Given the description of an element on the screen output the (x, y) to click on. 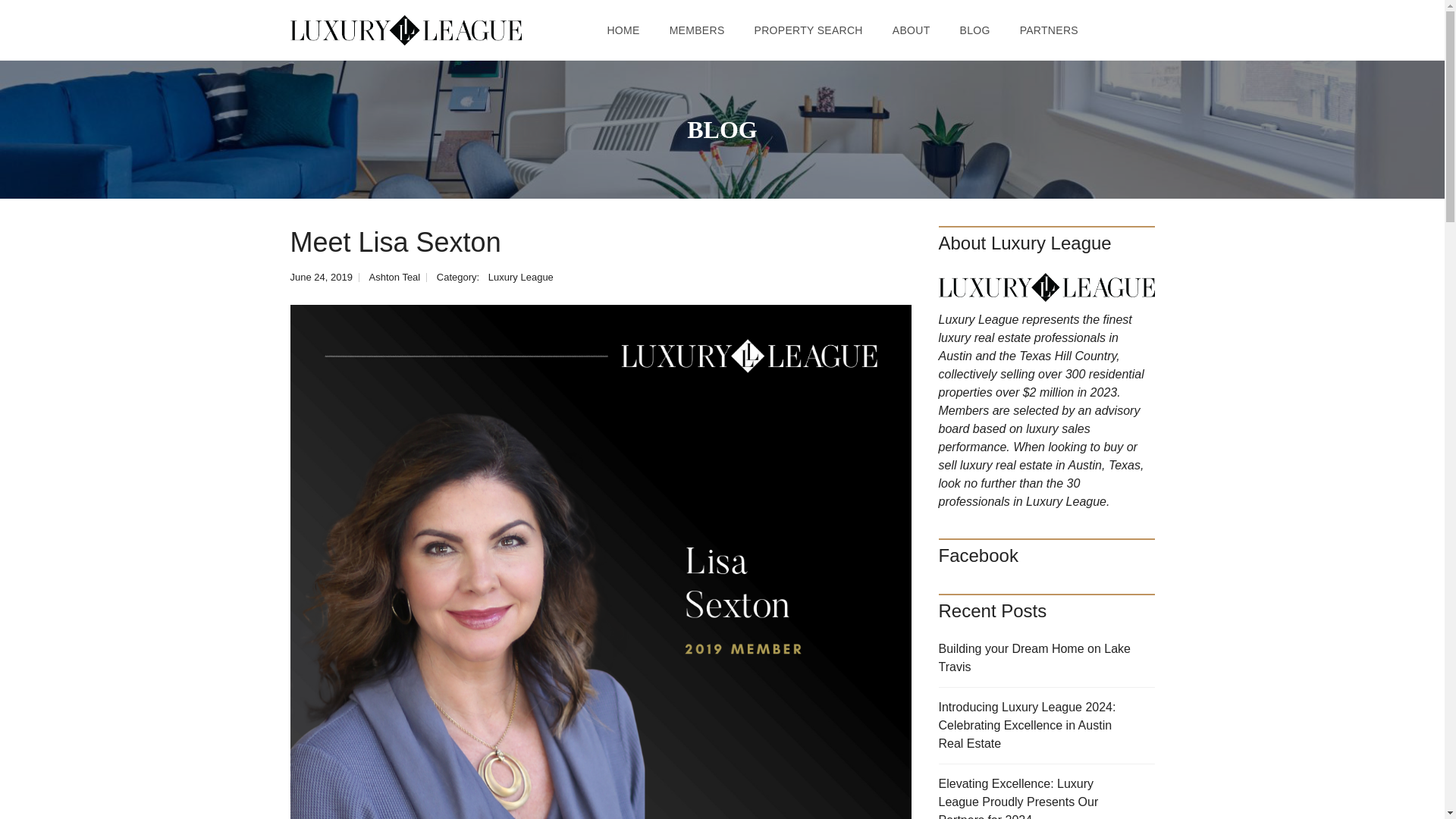
PROPERTY SEARCH (808, 30)
PARTNERS (1048, 30)
Building your Dream Home on Lake Travis (1046, 658)
BLOG (975, 30)
Luxury League (405, 30)
MEMBERS (697, 30)
About Luxury League (1046, 286)
Luxury League (520, 276)
ABOUT (911, 30)
